Given the description of an element on the screen output the (x, y) to click on. 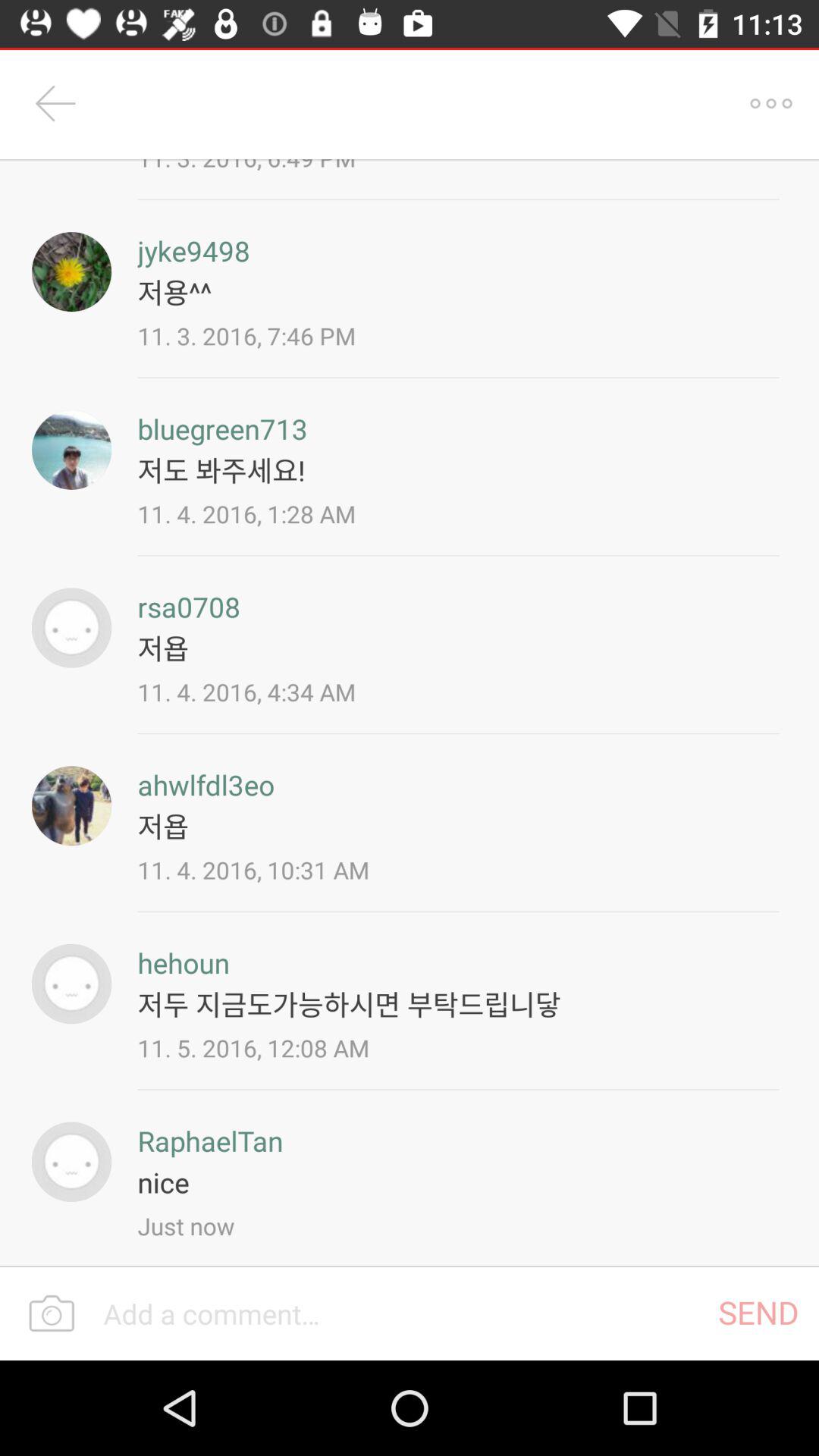
click on the profile (71, 983)
